Given the description of an element on the screen output the (x, y) to click on. 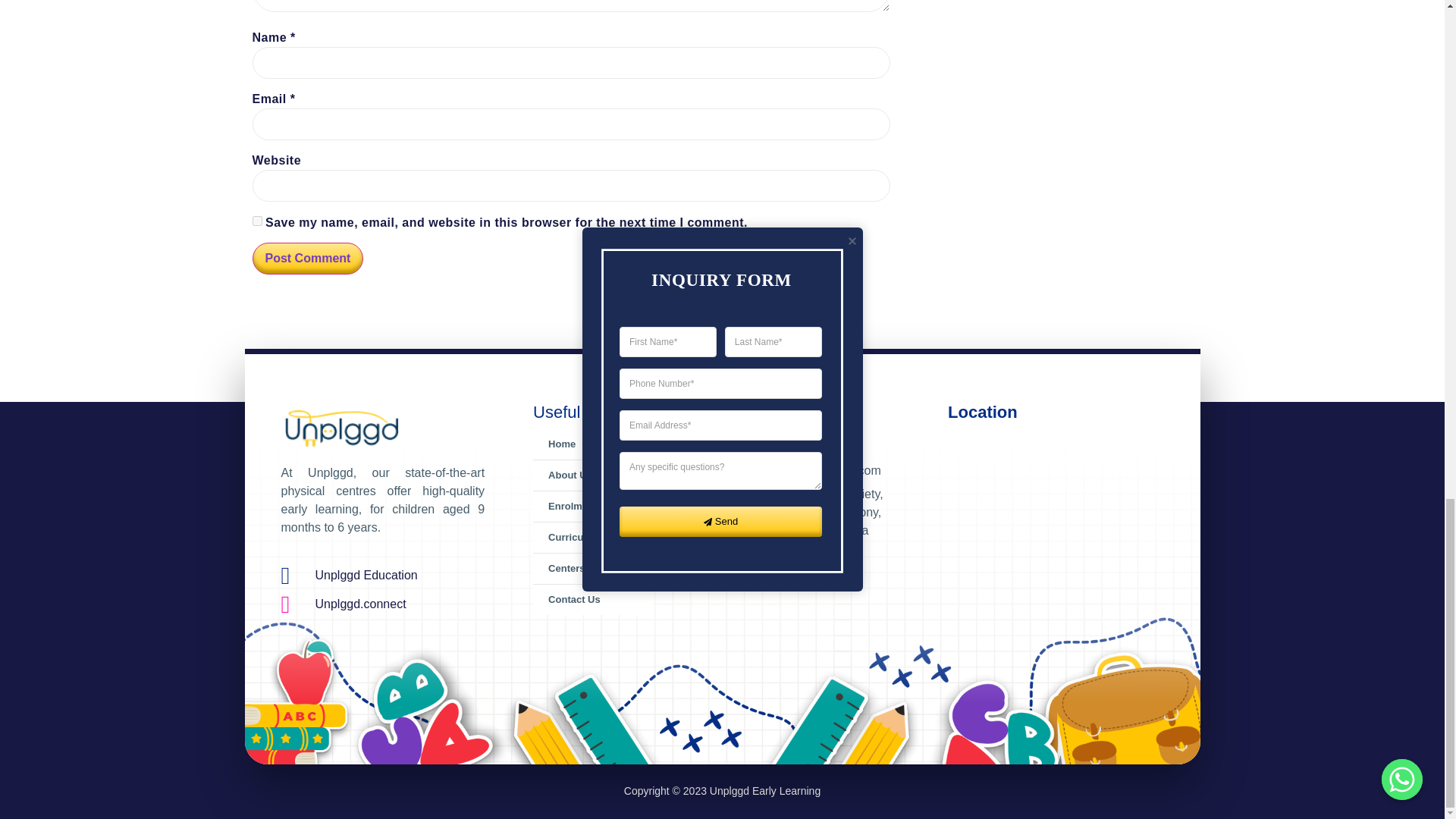
yes (256, 221)
Post Comment (306, 258)
Post Comment (306, 258)
